Given the description of an element on the screen output the (x, y) to click on. 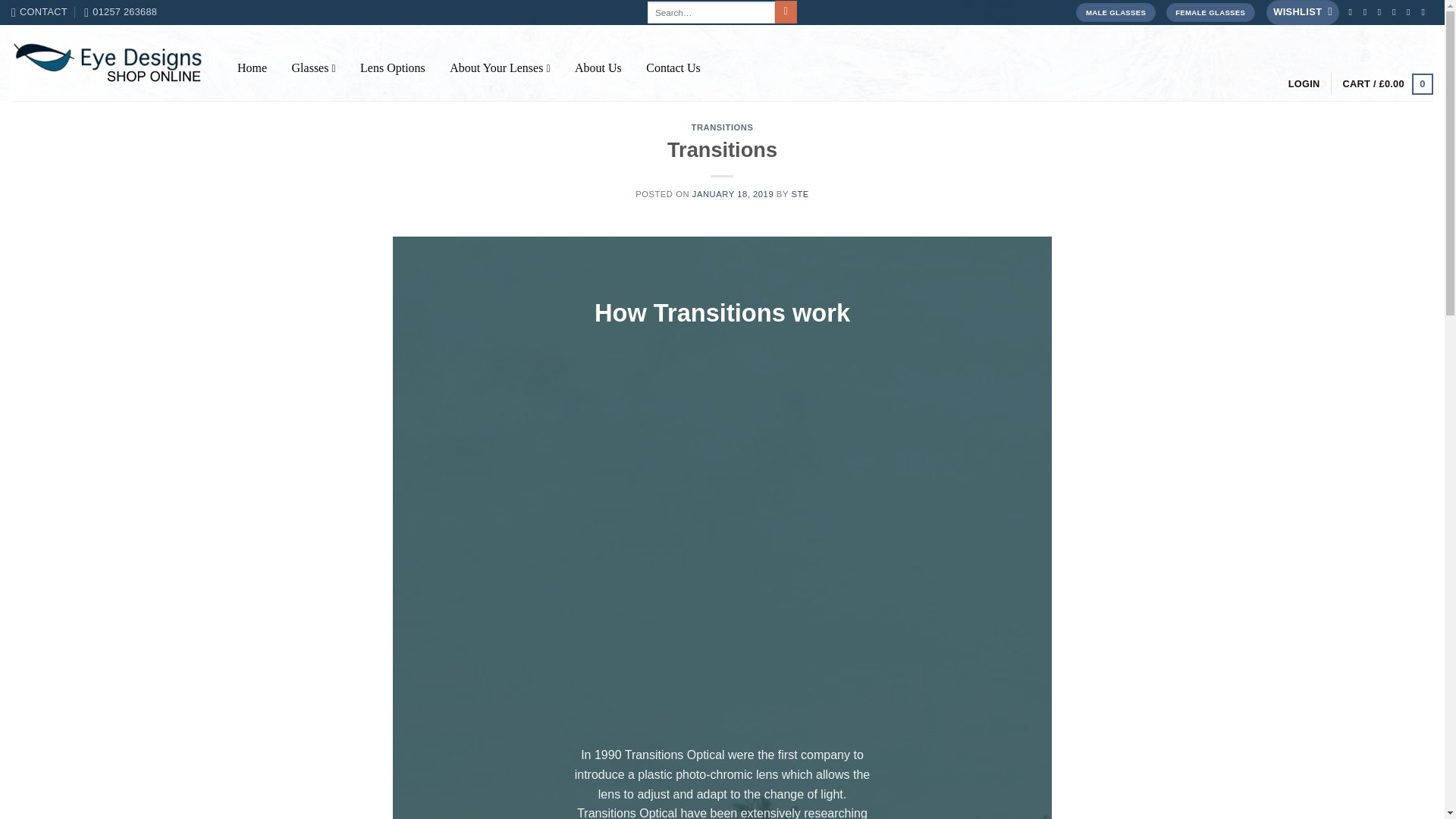
CONTACT (38, 11)
WISHLIST (1302, 12)
MALE GLASSES (1114, 12)
FEMALE GLASSES (1210, 12)
Lens Options (392, 67)
01257 263688 (120, 11)
01257 263688 (120, 11)
Cart (1387, 83)
Search (785, 11)
About Your Lenses (499, 67)
